Given the description of an element on the screen output the (x, y) to click on. 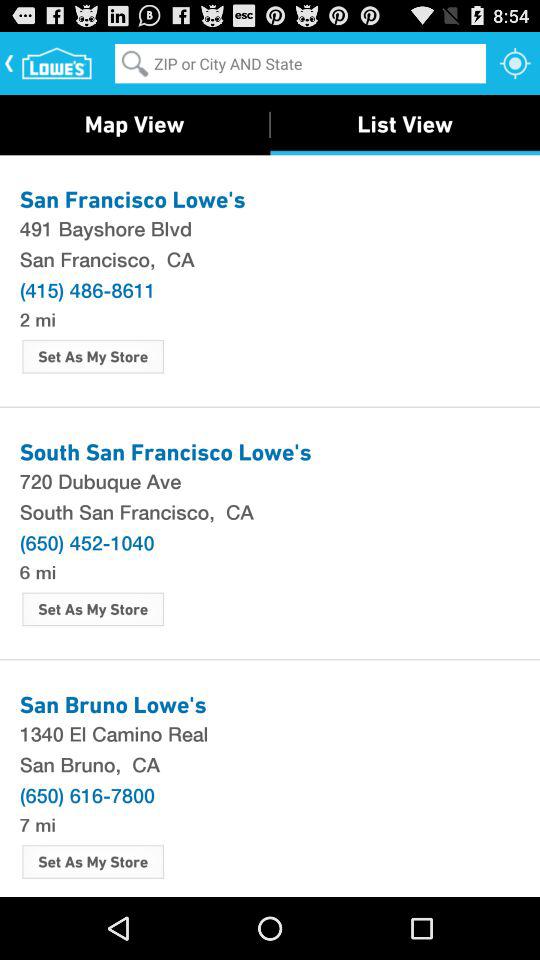
open item below the san francisco,  ca (87, 289)
